Given the description of an element on the screen output the (x, y) to click on. 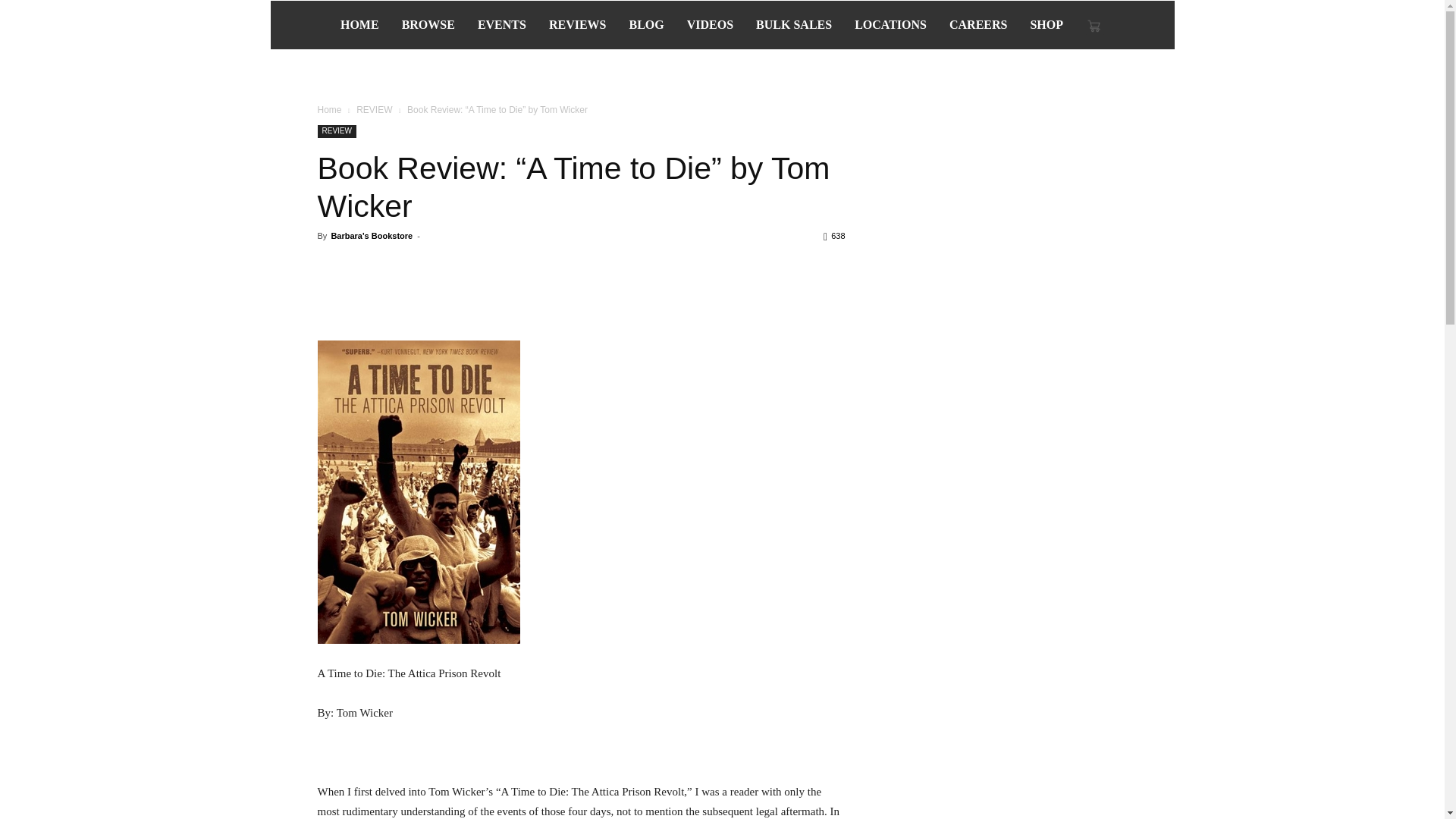
HOME (359, 24)
BROWSE (427, 24)
View all posts in REVIEW (373, 109)
